Given the description of an element on the screen output the (x, y) to click on. 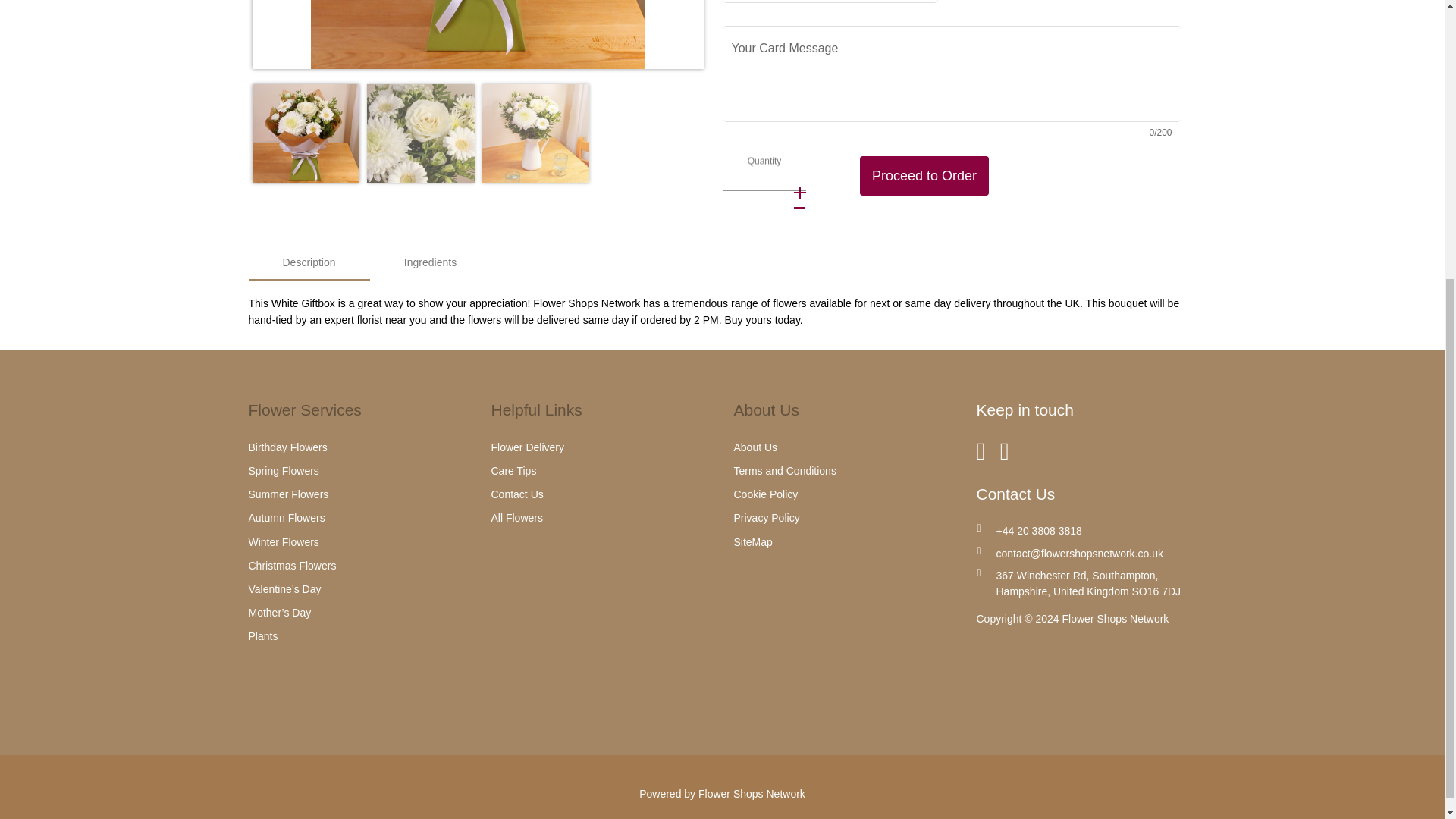
Christmas Flowers (292, 565)
Spring Flowers (283, 470)
Summer Flowers (288, 494)
Winter Flowers (283, 541)
Autumn Flowers (286, 517)
Proceed to Order (924, 175)
Birthday Flowers (287, 447)
